Given the description of an element on the screen output the (x, y) to click on. 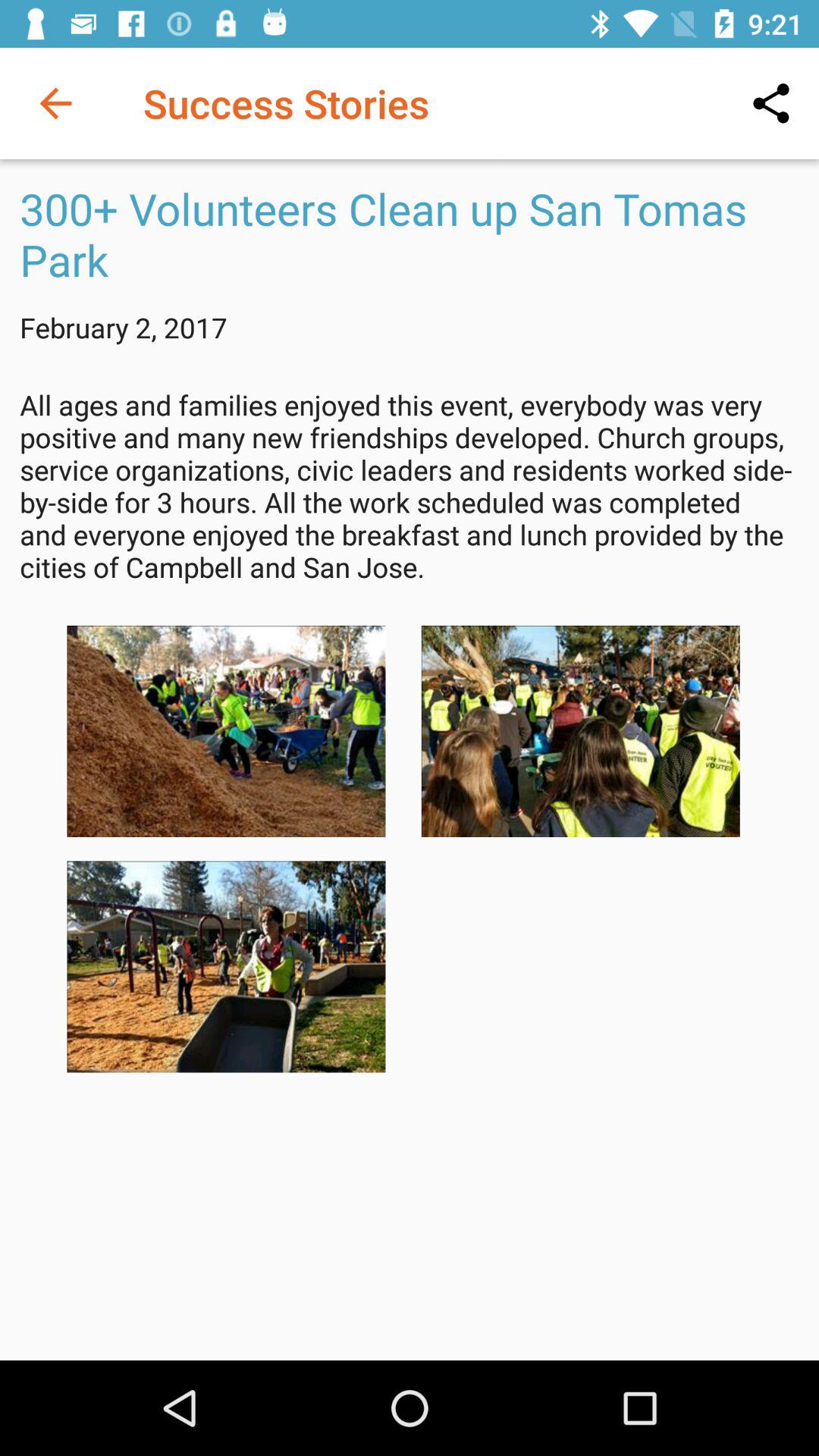
turn off the icon to the right of success stories (771, 103)
